Given the description of an element on the screen output the (x, y) to click on. 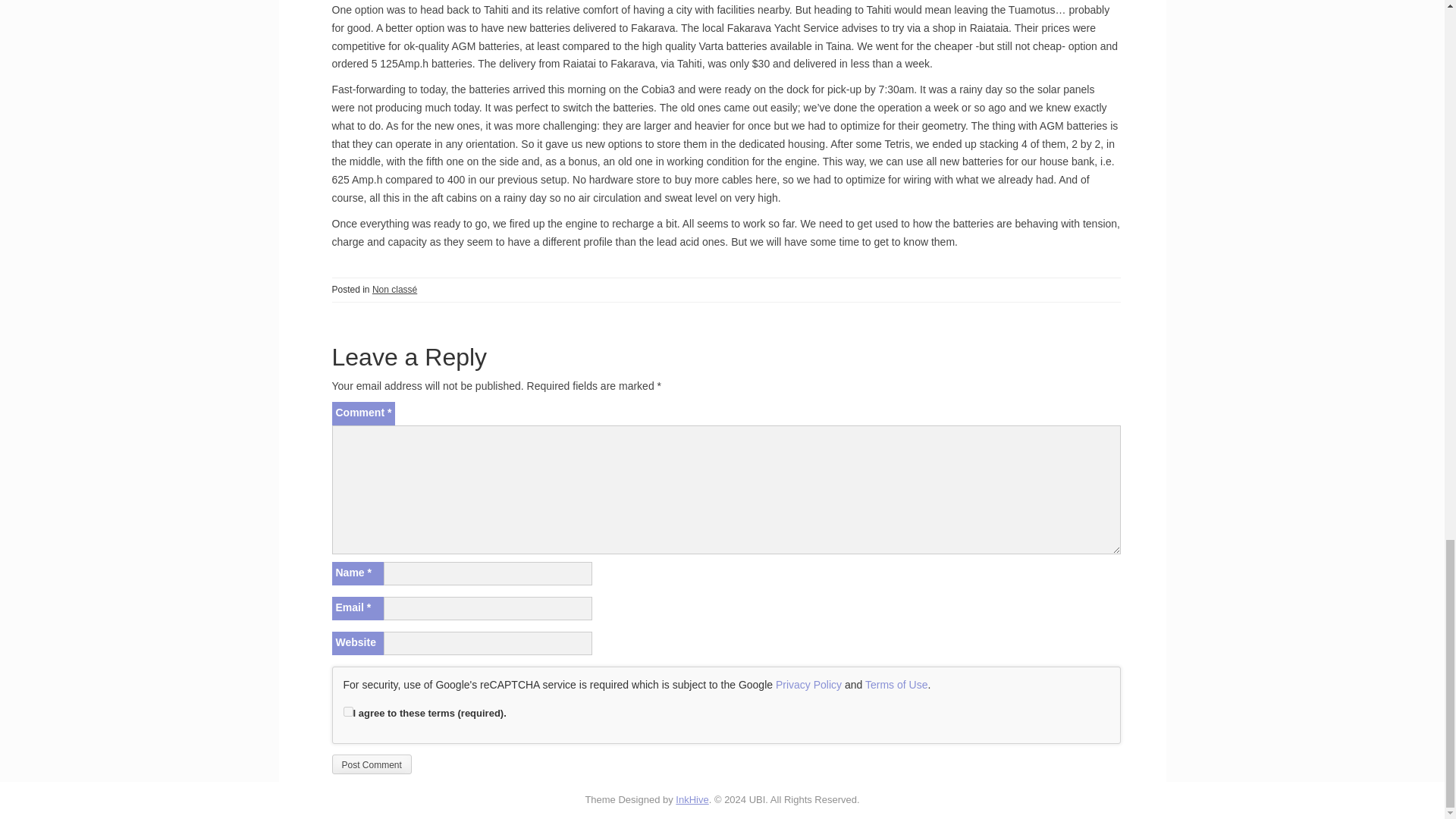
Post Comment (371, 763)
InkHive (691, 799)
Post Comment (371, 763)
on (347, 711)
Terms of Use (895, 684)
Privacy Policy (808, 684)
